Given the description of an element on the screen output the (x, y) to click on. 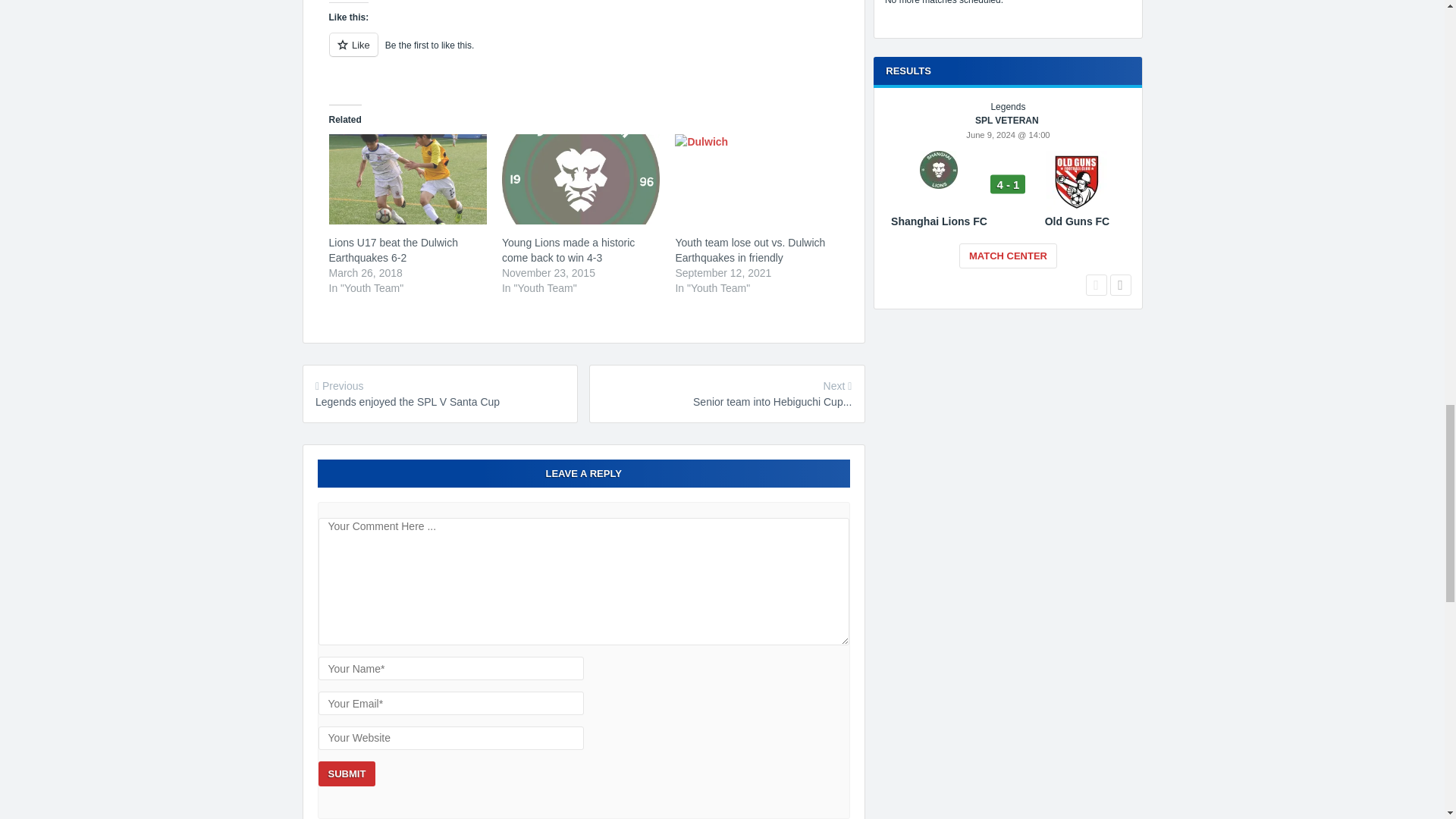
Submit (346, 774)
